Given the description of an element on the screen output the (x, y) to click on. 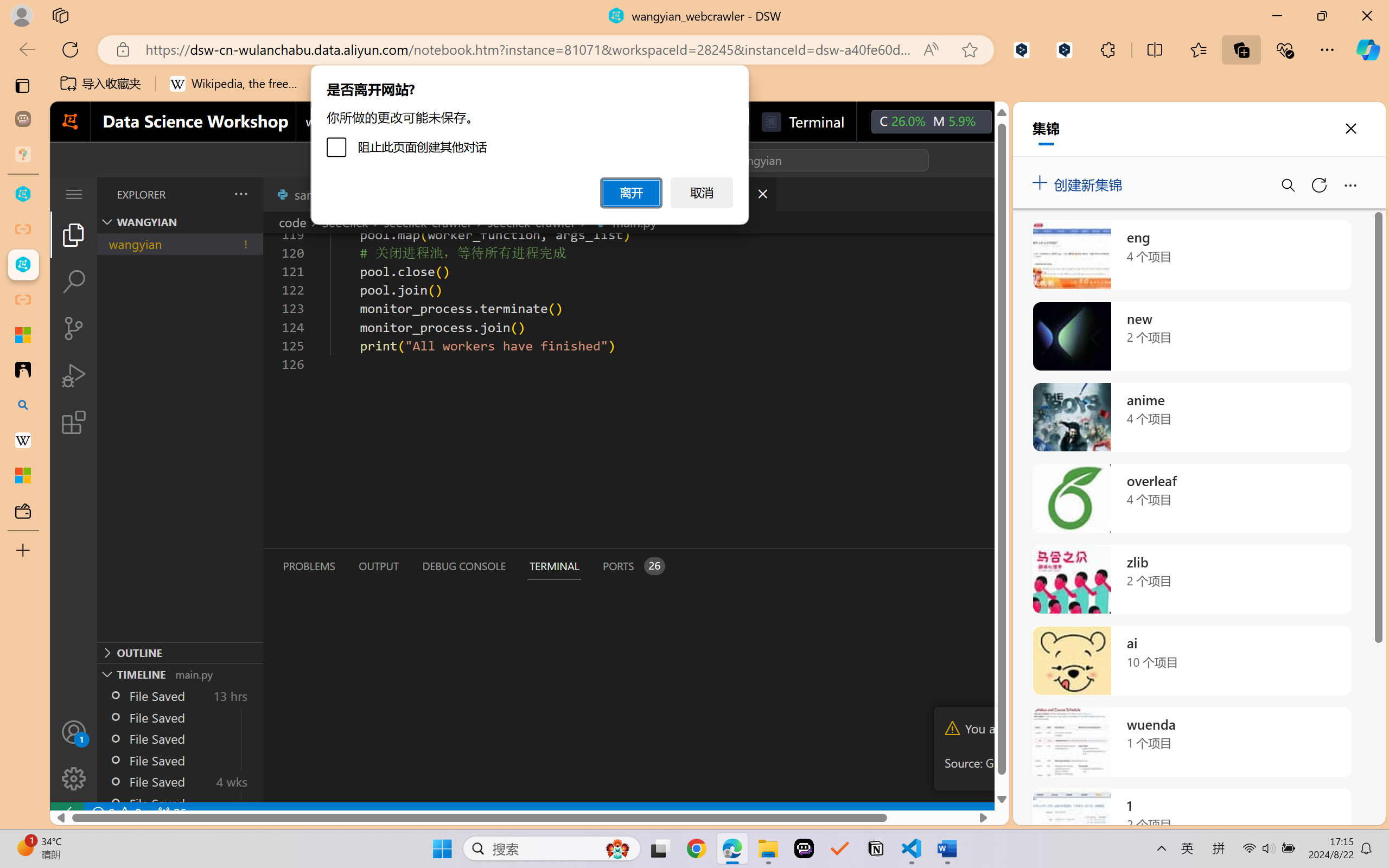
Output (Ctrl+Shift+U) (377, 565)
Manage (73, 778)
Timeline Section (179, 673)
C26.0% M5.9% (930, 121)
